Given the description of an element on the screen output the (x, y) to click on. 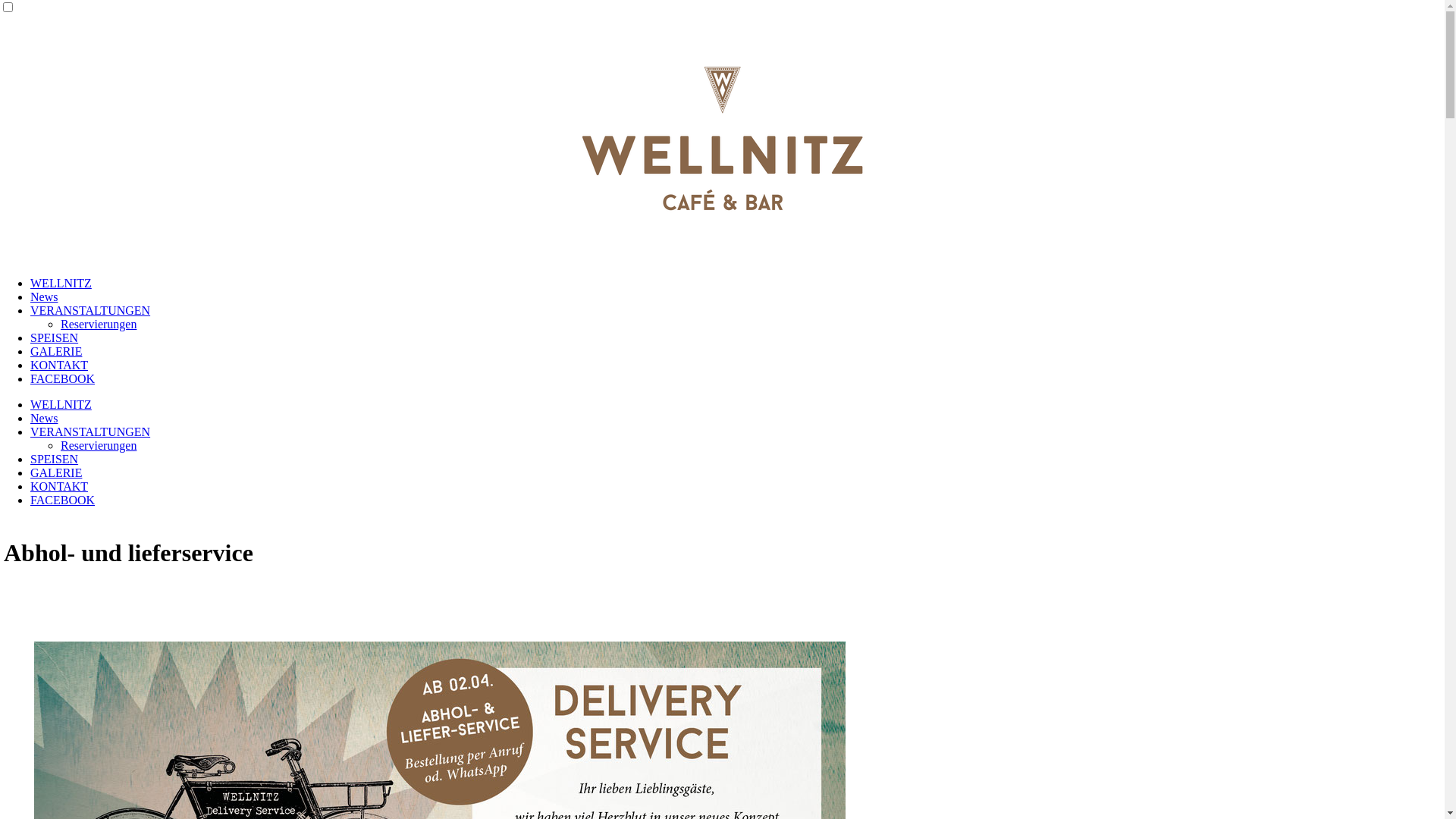
News Element type: text (43, 296)
FACEBOOK Element type: text (62, 499)
News Element type: text (43, 417)
SPEISEN Element type: text (54, 458)
Reservierungen Element type: text (98, 445)
FACEBOOK Element type: text (62, 378)
SPEISEN Element type: text (54, 337)
GALERIE Element type: text (55, 351)
GALERIE Element type: text (55, 472)
WELLNITZ Element type: text (60, 282)
KONTAKT Element type: text (58, 486)
VERANSTALTUNGEN Element type: text (90, 310)
KONTAKT Element type: text (58, 364)
VERANSTALTUNGEN Element type: text (90, 431)
Reservierungen Element type: text (98, 323)
WELLNITZ Element type: text (60, 404)
